Given the description of an element on the screen output the (x, y) to click on. 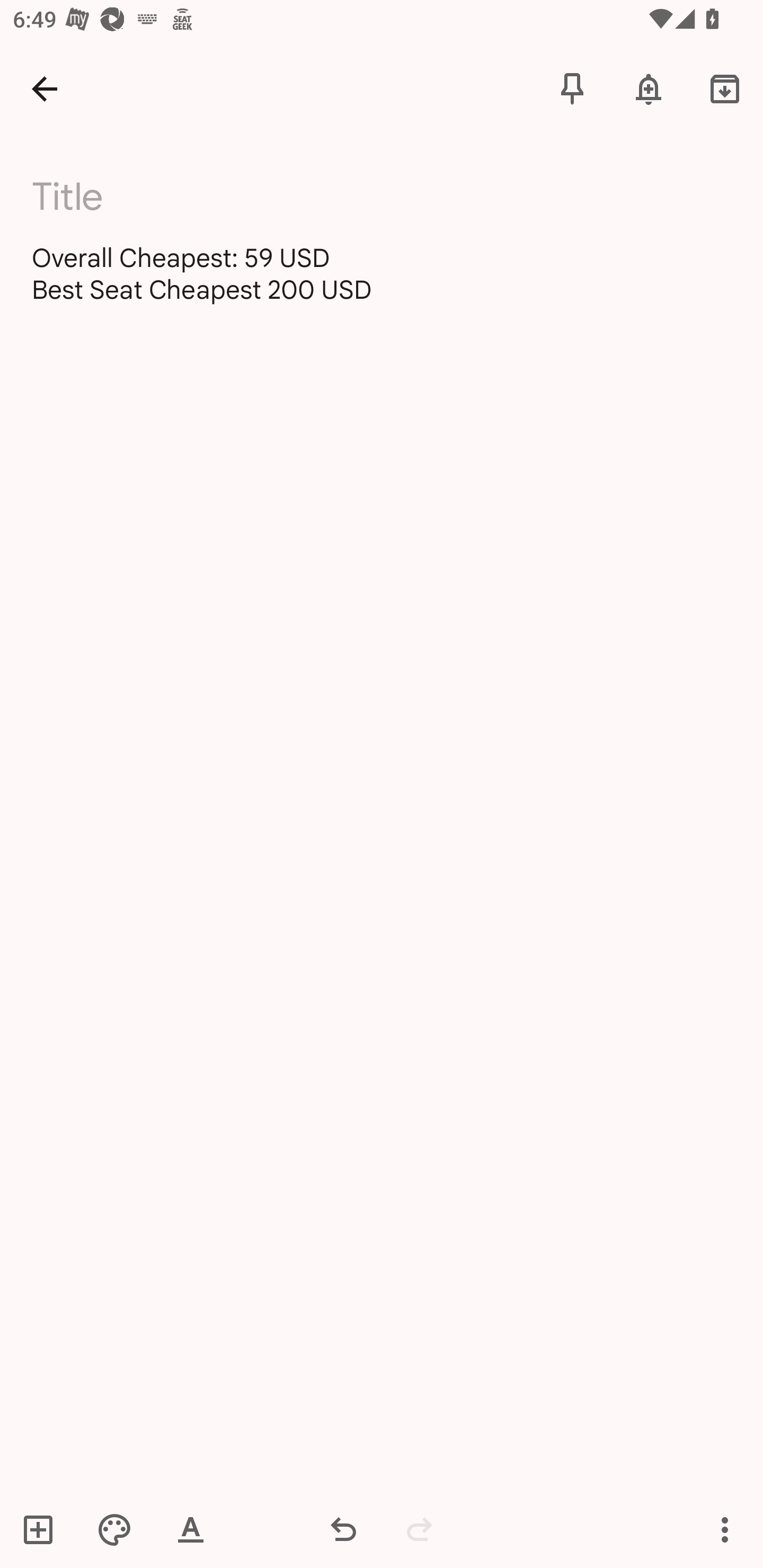
Navigate up (44, 88)
Pin (572, 88)
Reminder (648, 88)
Archive (724, 88)
Title (392, 196)
New list (44, 1529)
Theme (114, 1529)
Show formatting controls (190, 1529)
Undo (343, 1529)
Redo (419, 1529)
Action (724, 1529)
